Given the description of an element on the screen output the (x, y) to click on. 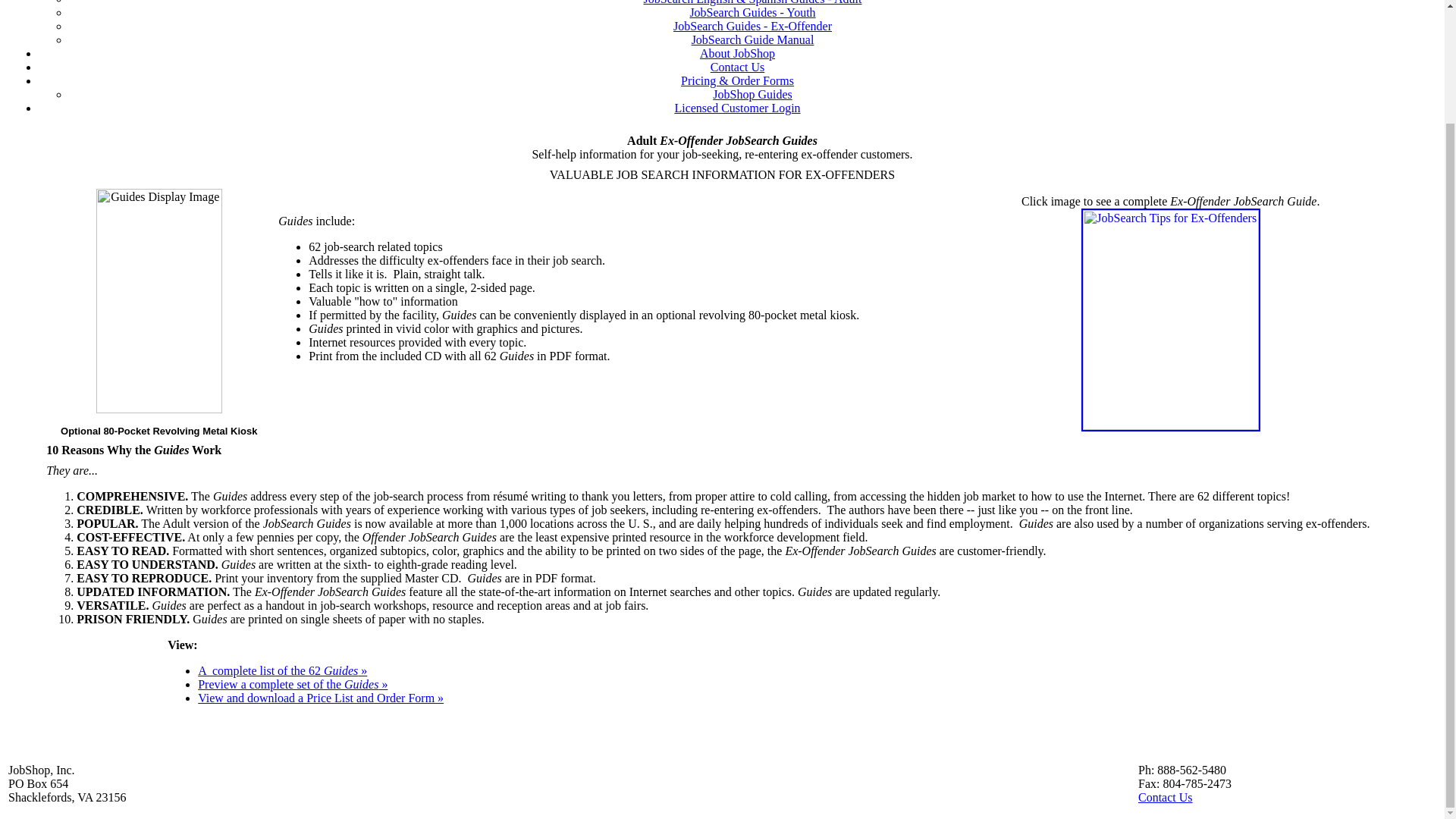
JobShop Guides (752, 93)
Contact Us (737, 66)
About JobShop (737, 52)
JobSearch Guides - Ex-Offender (751, 25)
JobSearch Guides - Youth (751, 11)
Contact Us (1165, 797)
JobSearch Guide Manual (752, 39)
Licensed Customer Login (736, 107)
